Given the description of an element on the screen output the (x, y) to click on. 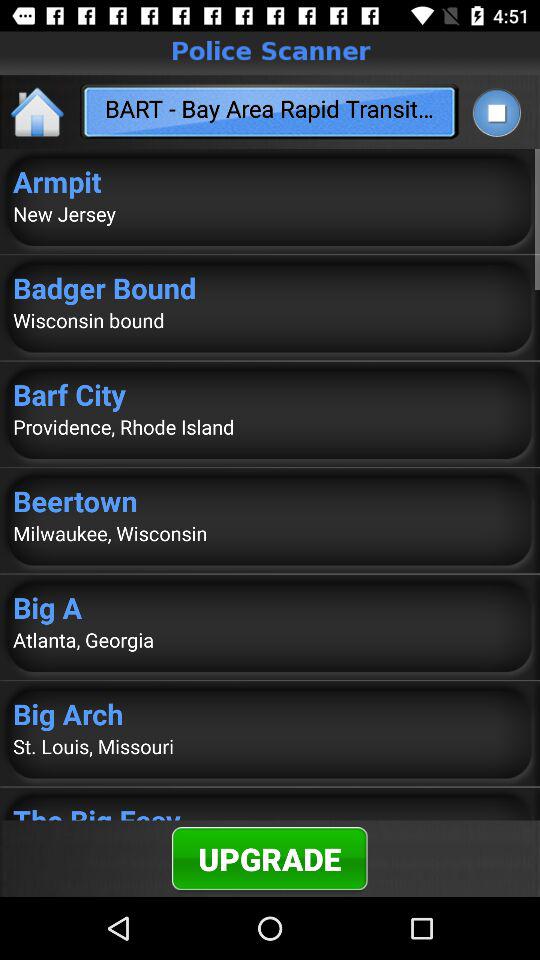
stop (496, 111)
